Given the description of an element on the screen output the (x, y) to click on. 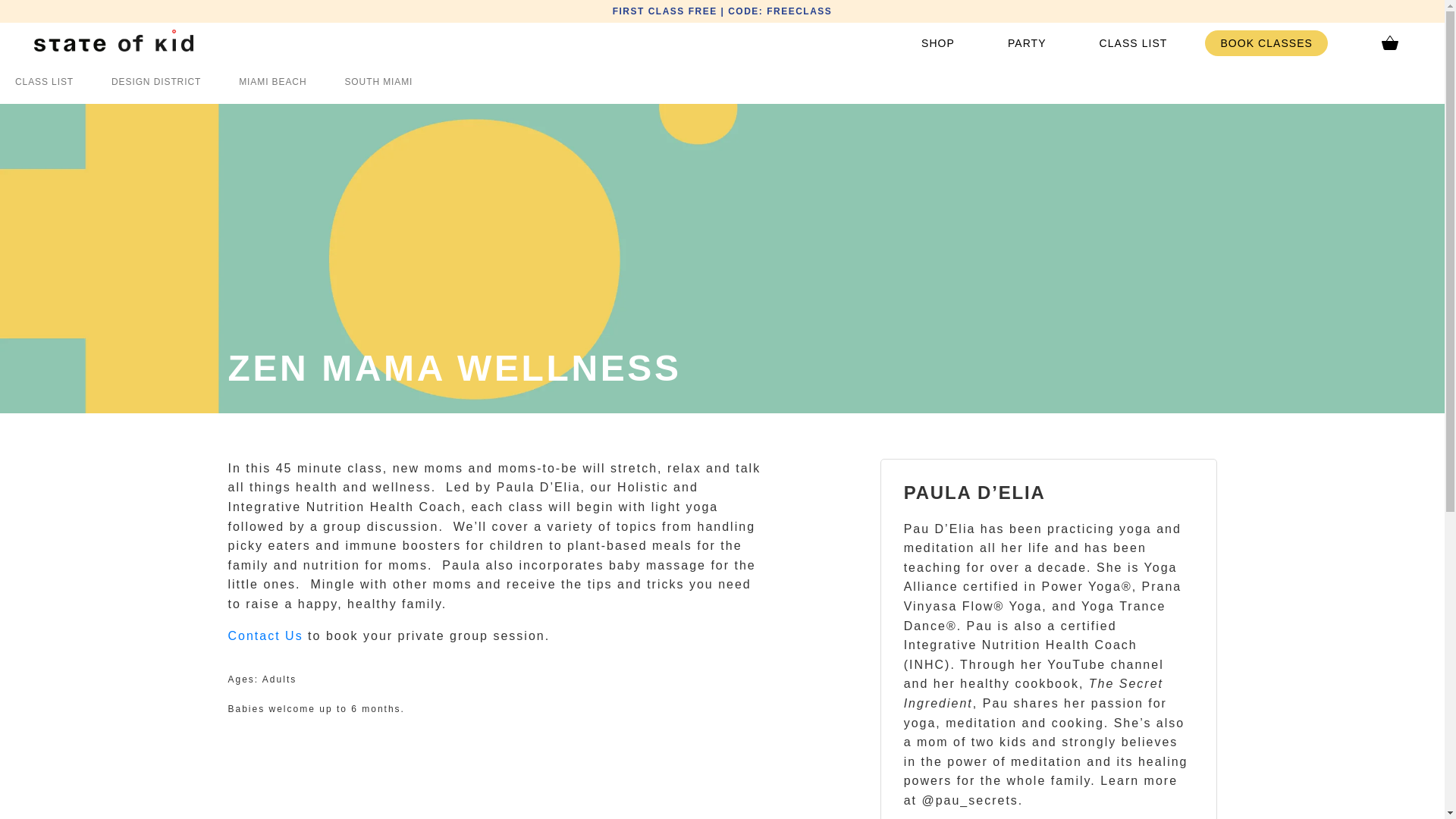
PARTY (1026, 43)
SHOP (937, 43)
CLASS LIST (1133, 43)
